Given the description of an element on the screen output the (x, y) to click on. 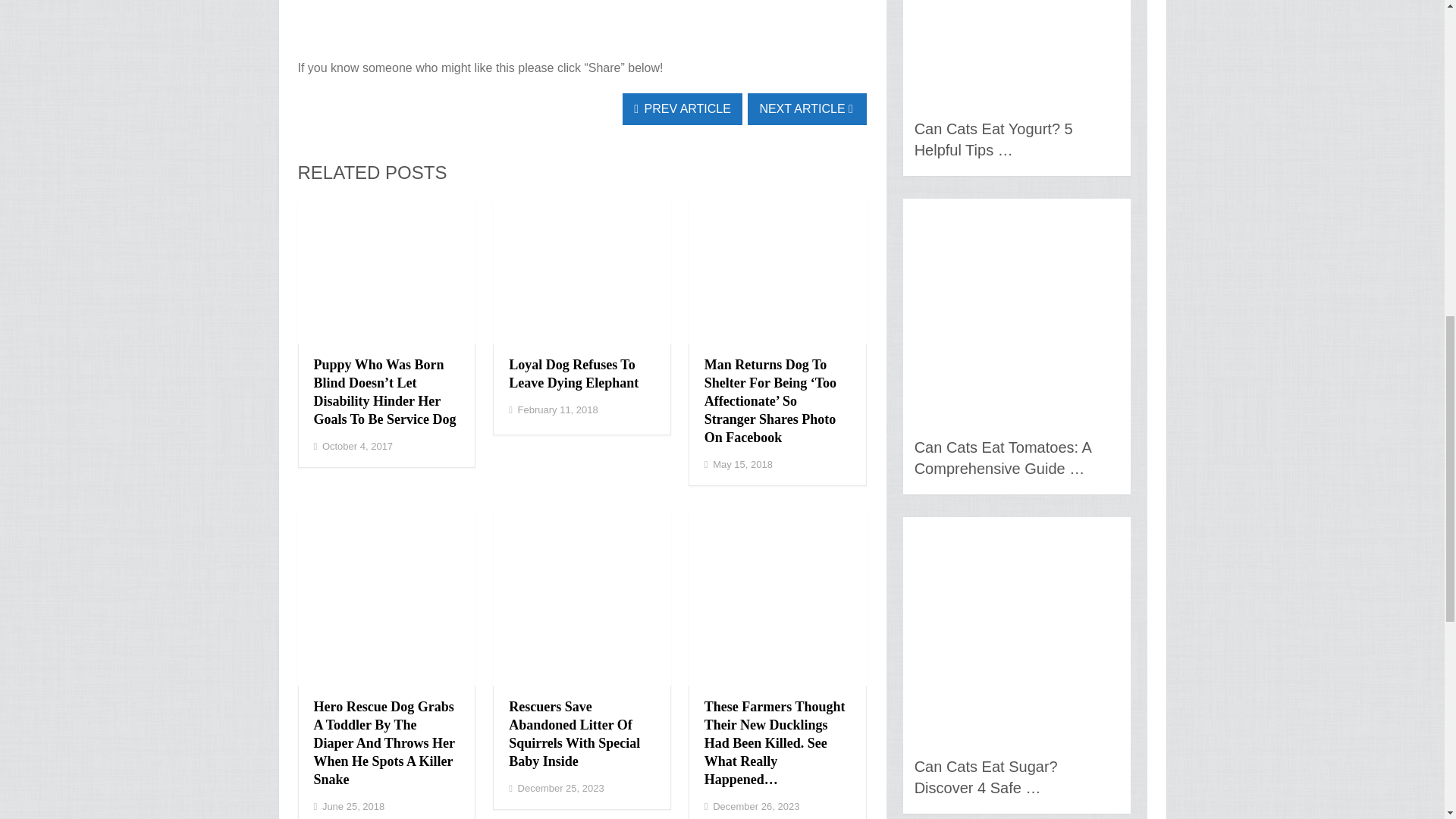
Loyal Dog Refuses To Leave Dying Elephant (573, 373)
PREV ARTICLE (682, 109)
Loyal Dog Refuses To Leave Dying Elephant (573, 373)
NEXT ARTICLE (807, 109)
Loyal Dog Refuses To Leave Dying Elephant (582, 271)
